Given the description of an element on the screen output the (x, y) to click on. 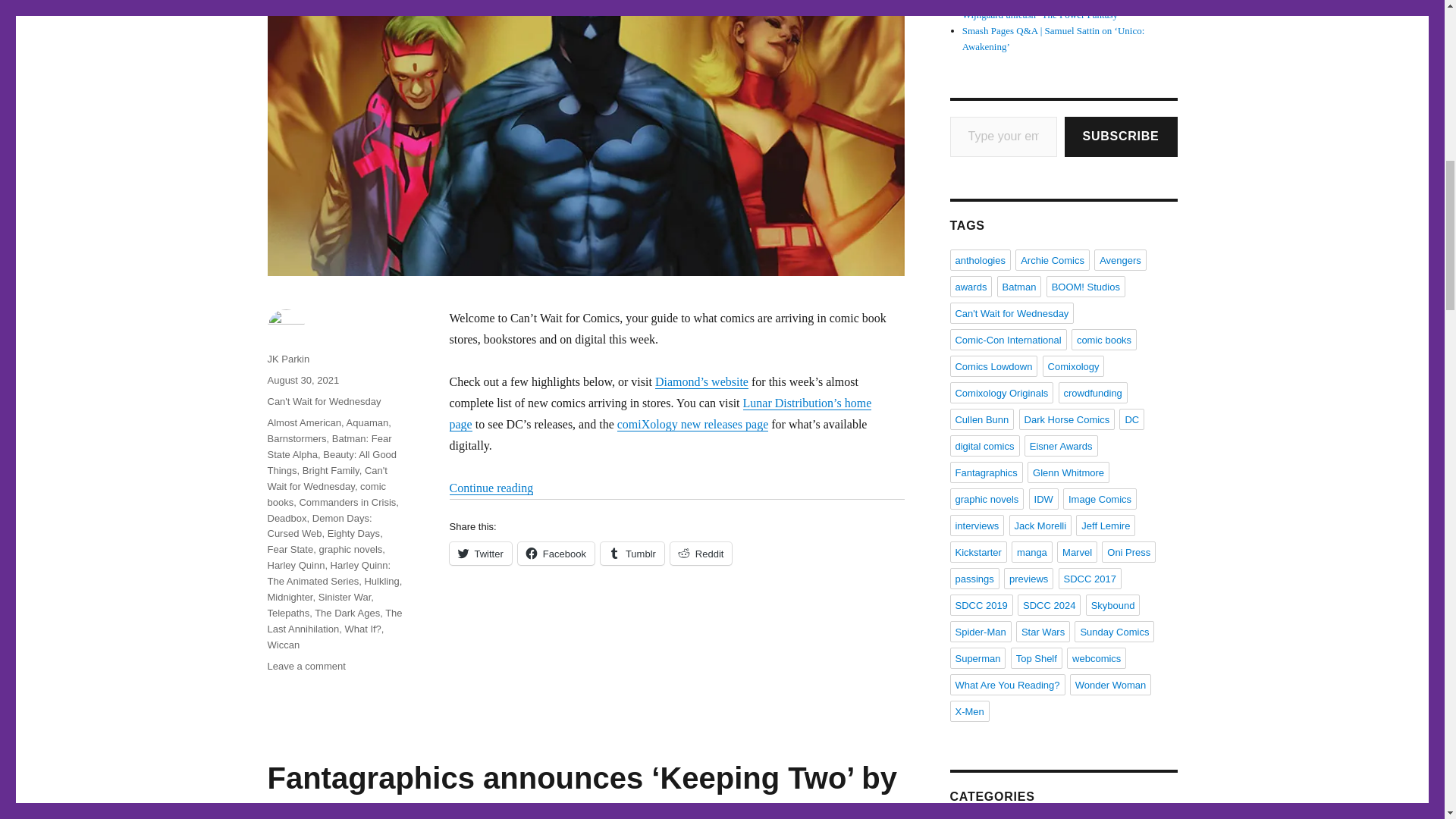
Twitter (479, 553)
Click to share on Facebook (556, 553)
Bright Family (330, 470)
Harley Quinn: The Animated Series (328, 573)
Commanders in Crisis (347, 501)
Click to share on Tumblr (631, 553)
Fear State (289, 549)
Deadbox (285, 518)
Can't Wait for Wednesday (323, 401)
Click to share on Reddit (700, 553)
